Given the description of an element on the screen output the (x, y) to click on. 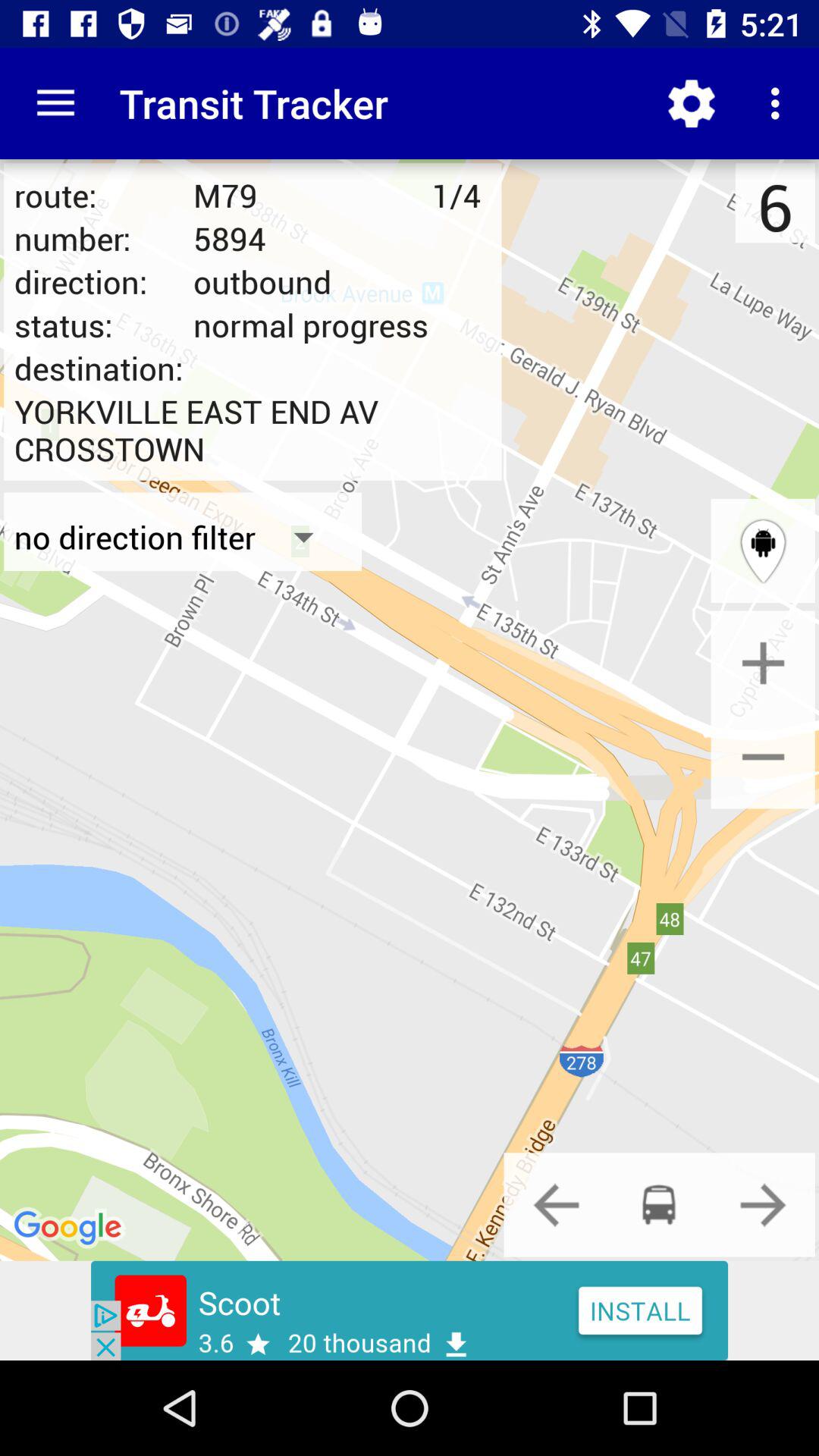
open advertisement (409, 1310)
